Given the description of an element on the screen output the (x, y) to click on. 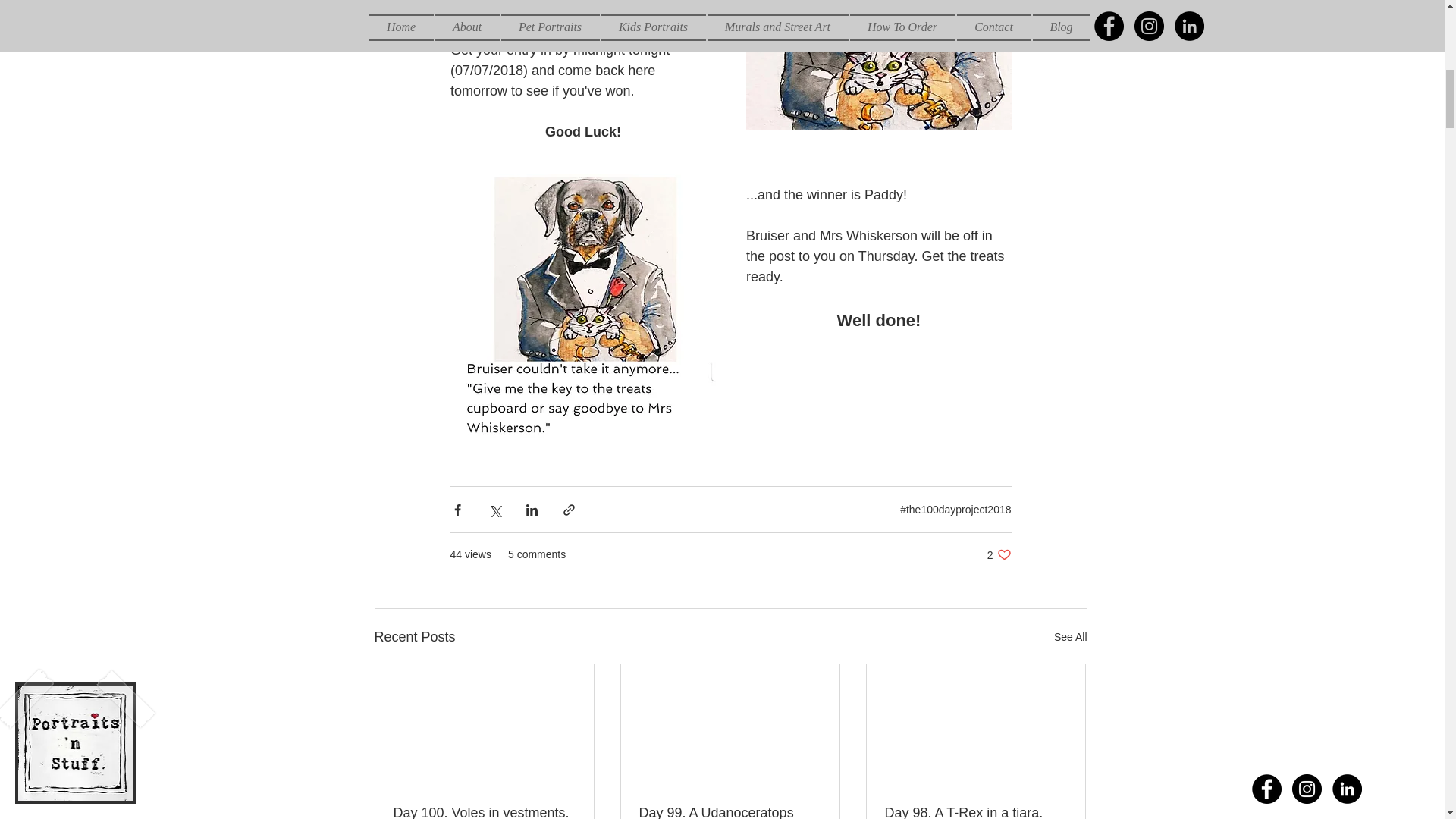
Day 99. A Udanoceratops with an umbrella. (999, 554)
Day 100. Voles in vestments. (730, 812)
Day 98. A T-Rex in a tiara. (484, 812)
See All (974, 812)
